Given the description of an element on the screen output the (x, y) to click on. 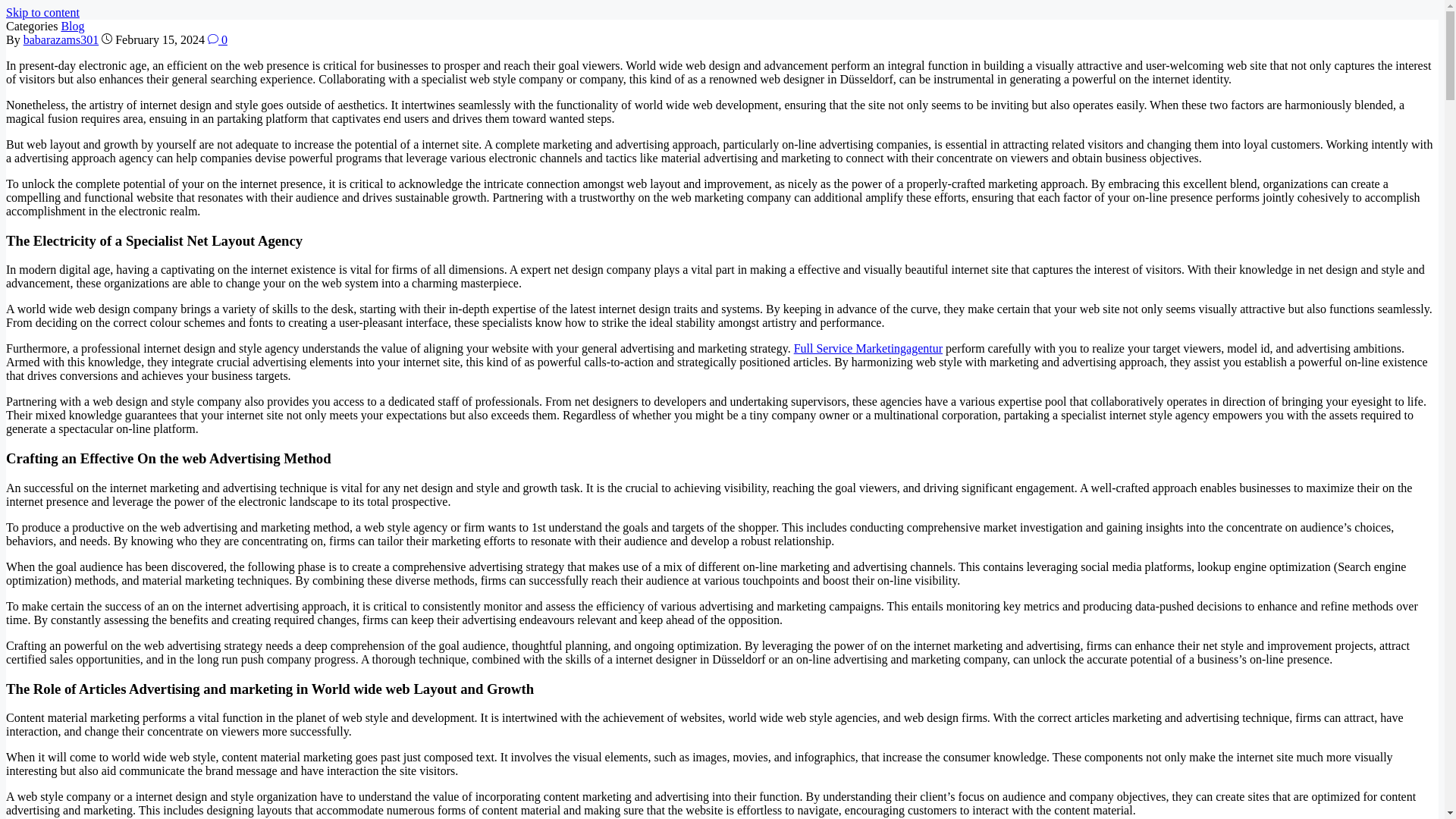
0 (217, 39)
Full Service Marketingagentur (867, 348)
Blog (72, 25)
Skip to content (42, 11)
View all posts by babarazams301 (61, 39)
Skip to content (42, 11)
babarazams301 (61, 39)
